Given the description of an element on the screen output the (x, y) to click on. 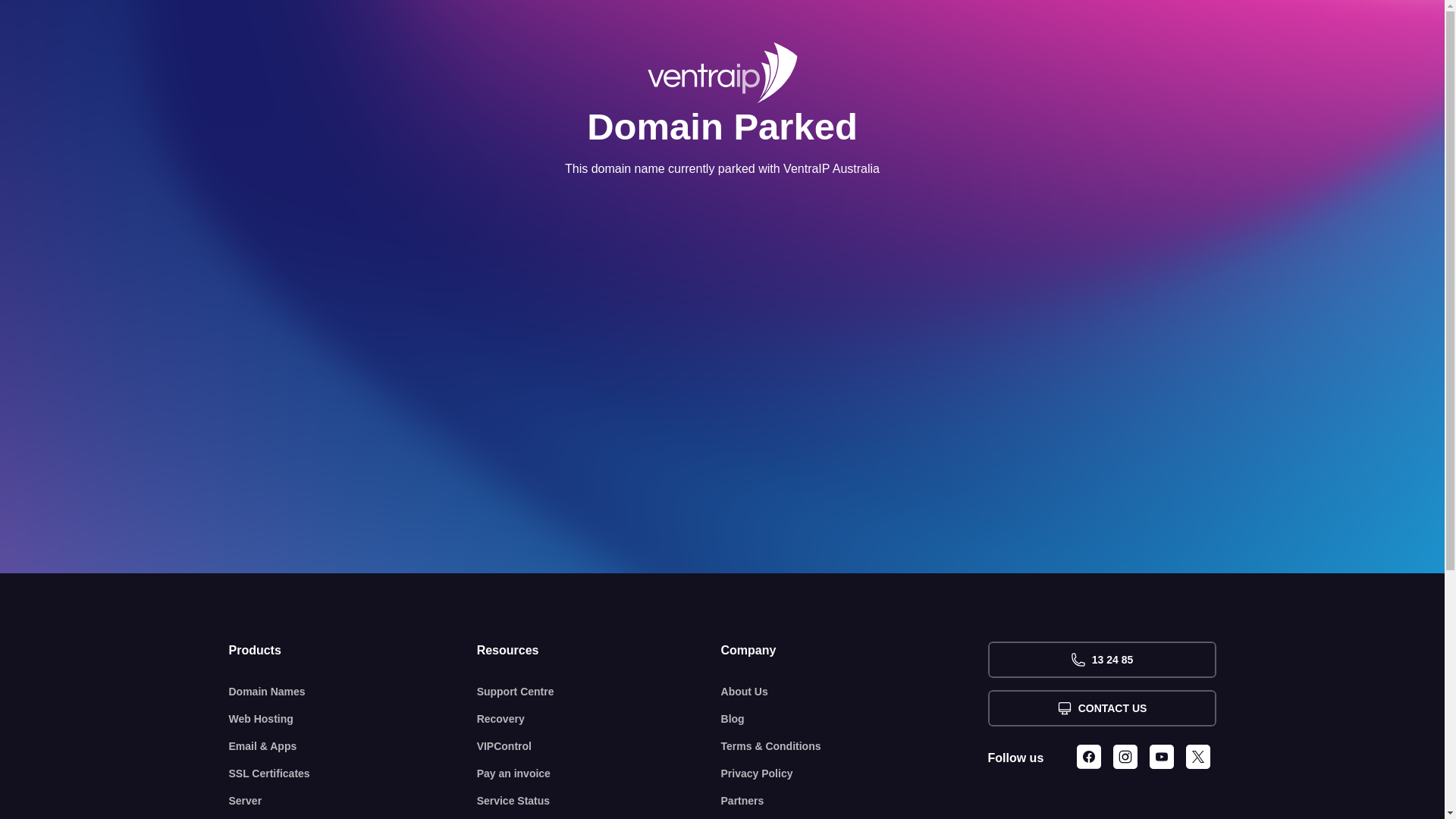
Terms & Conditions Element type: text (854, 745)
Support Centre Element type: text (598, 691)
13 24 85 Element type: text (1101, 659)
Service Status Element type: text (598, 800)
Privacy Policy Element type: text (854, 773)
Pay an invoice Element type: text (598, 773)
About Us Element type: text (854, 691)
CONTACT US Element type: text (1101, 708)
Partners Element type: text (854, 800)
Server Element type: text (352, 800)
Web Hosting Element type: text (352, 718)
Recovery Element type: text (598, 718)
Blog Element type: text (854, 718)
Email & Apps Element type: text (352, 745)
Domain Names Element type: text (352, 691)
VIPControl Element type: text (598, 745)
SSL Certificates Element type: text (352, 773)
